Given the description of an element on the screen output the (x, y) to click on. 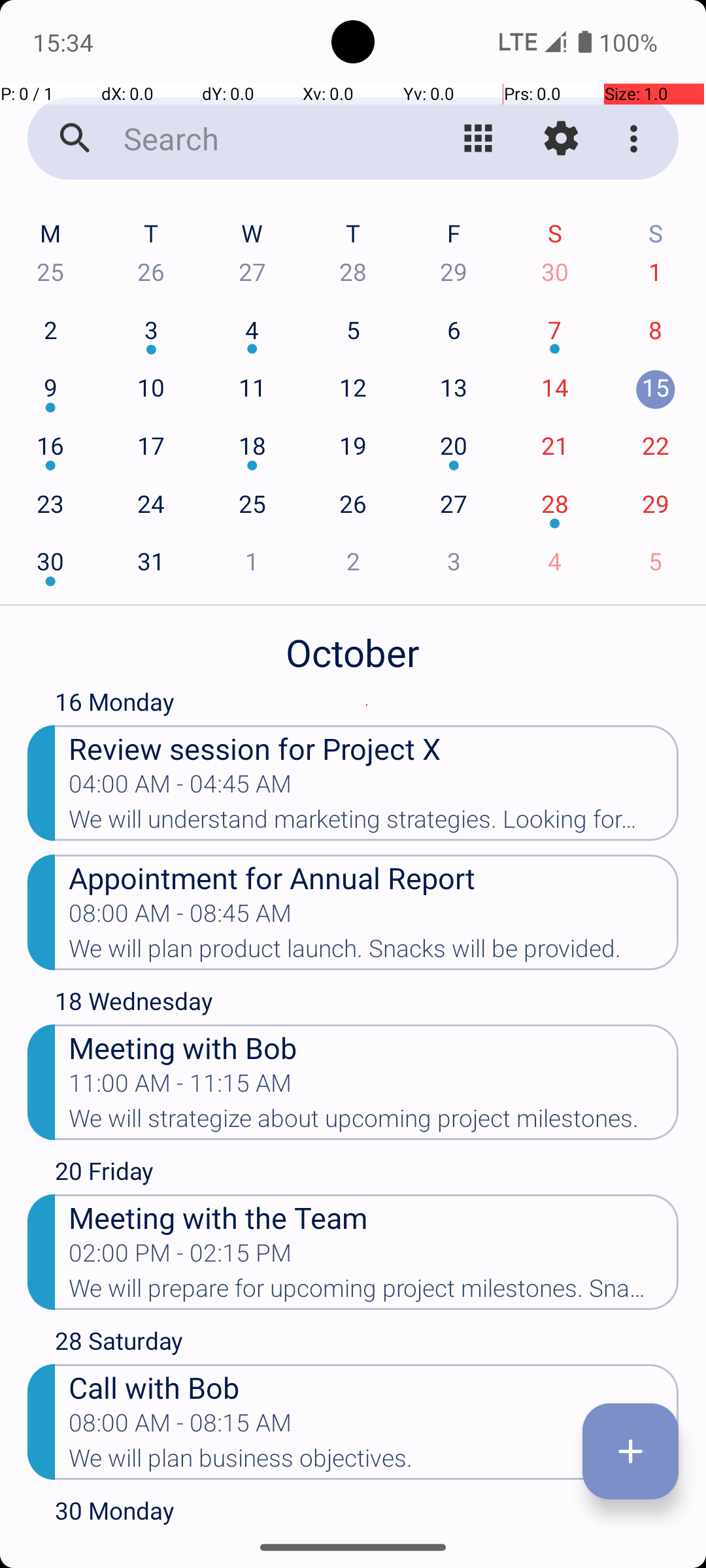
16 Monday Element type: android.widget.TextView (366, 704)
18 Wednesday Element type: android.widget.TextView (366, 1003)
20 Friday Element type: android.widget.TextView (366, 1173)
28 Saturday Element type: android.widget.TextView (366, 1343)
30 Monday Element type: android.widget.TextView (366, 1509)
Review session for Project X Element type: android.widget.TextView (373, 747)
04:00 AM - 04:45 AM Element type: android.widget.TextView (179, 787)
We will understand marketing strategies. Looking forward to productive discussions. Element type: android.widget.TextView (373, 822)
Appointment for Annual Report Element type: android.widget.TextView (373, 876)
08:00 AM - 08:45 AM Element type: android.widget.TextView (179, 916)
We will plan product launch. Snacks will be provided. Element type: android.widget.TextView (373, 952)
Meeting with Bob Element type: android.widget.TextView (373, 1046)
11:00 AM - 11:15 AM Element type: android.widget.TextView (179, 1086)
We will strategize about upcoming project milestones. Element type: android.widget.TextView (373, 1122)
Meeting with the Team Element type: android.widget.TextView (373, 1216)
02:00 PM - 02:15 PM Element type: android.widget.TextView (179, 1256)
We will prepare for upcoming project milestones. Snacks will be provided. Element type: android.widget.TextView (373, 1291)
Call with Bob Element type: android.widget.TextView (373, 1386)
08:00 AM - 08:15 AM Element type: android.widget.TextView (179, 1426)
We will plan business objectives. Element type: android.widget.TextView (373, 1461)
